Given the description of an element on the screen output the (x, y) to click on. 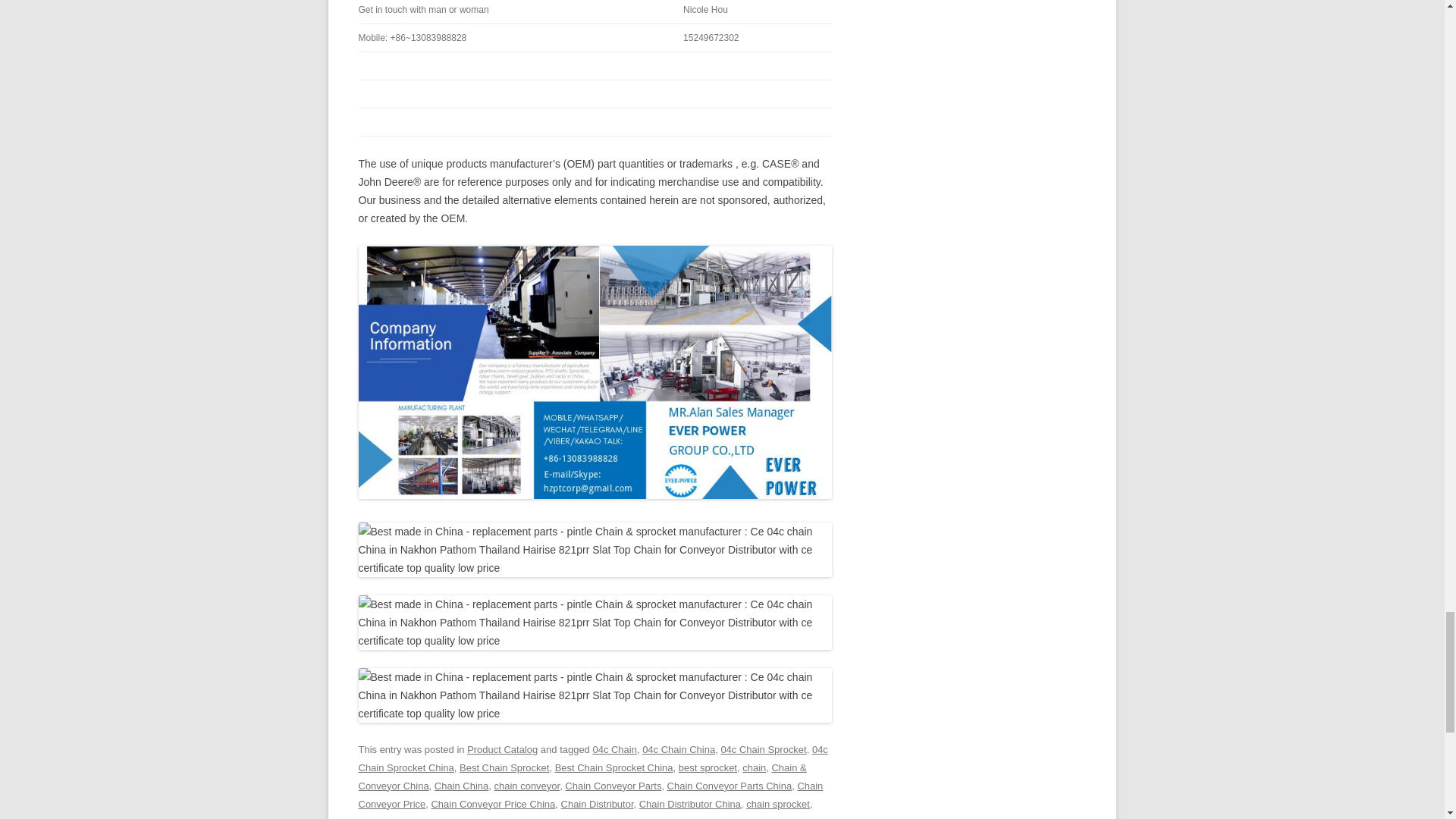
Chain Sprocket Price China (617, 817)
Best Chain Sprocket China (613, 767)
chain top (703, 817)
best sprocket (707, 767)
Chain Distributor China (690, 803)
Chain China (460, 785)
chain (753, 767)
Best Chain Sprocket (504, 767)
Chain Conveyor Price (590, 794)
04c Chain (614, 749)
